Given the description of an element on the screen output the (x, y) to click on. 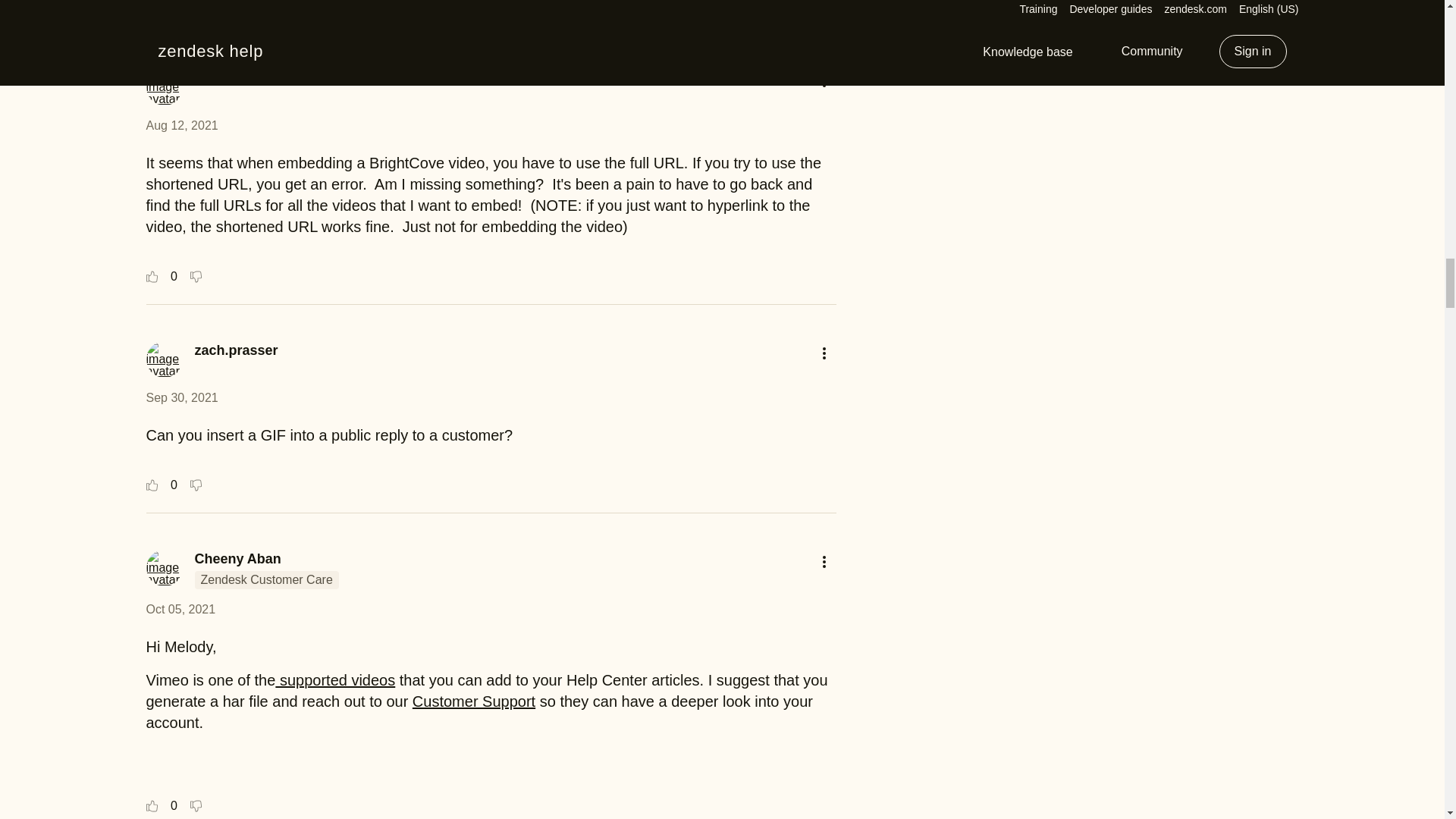
Oct 05, 2021 (180, 608)
Aug 12, 2021 (180, 124)
Sep 30, 2021 (180, 397)
